Given the description of an element on the screen output the (x, y) to click on. 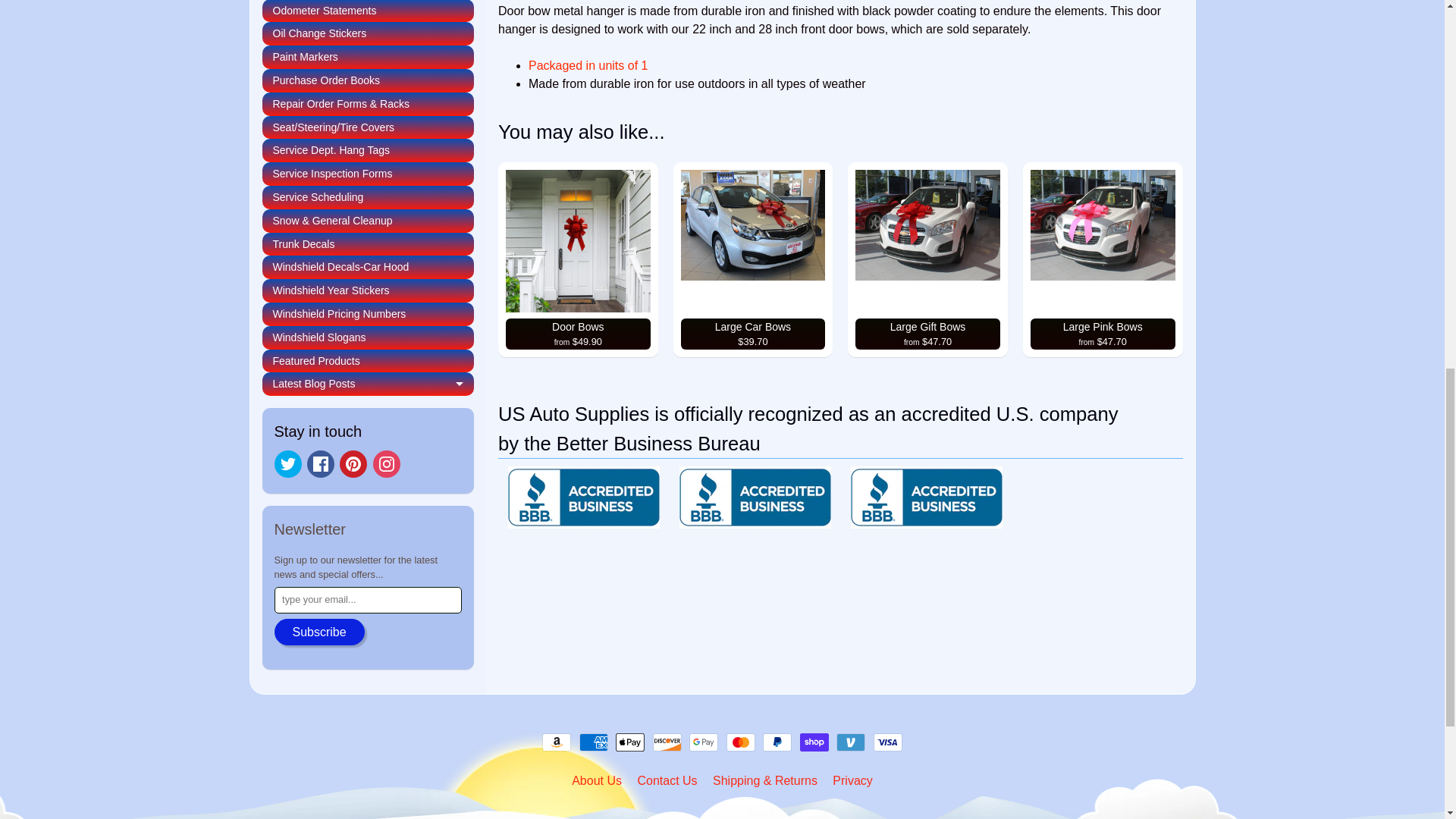
Pinterest (352, 463)
Instagram (386, 463)
Facebook (320, 463)
Twitter (288, 463)
